Given the description of an element on the screen output the (x, y) to click on. 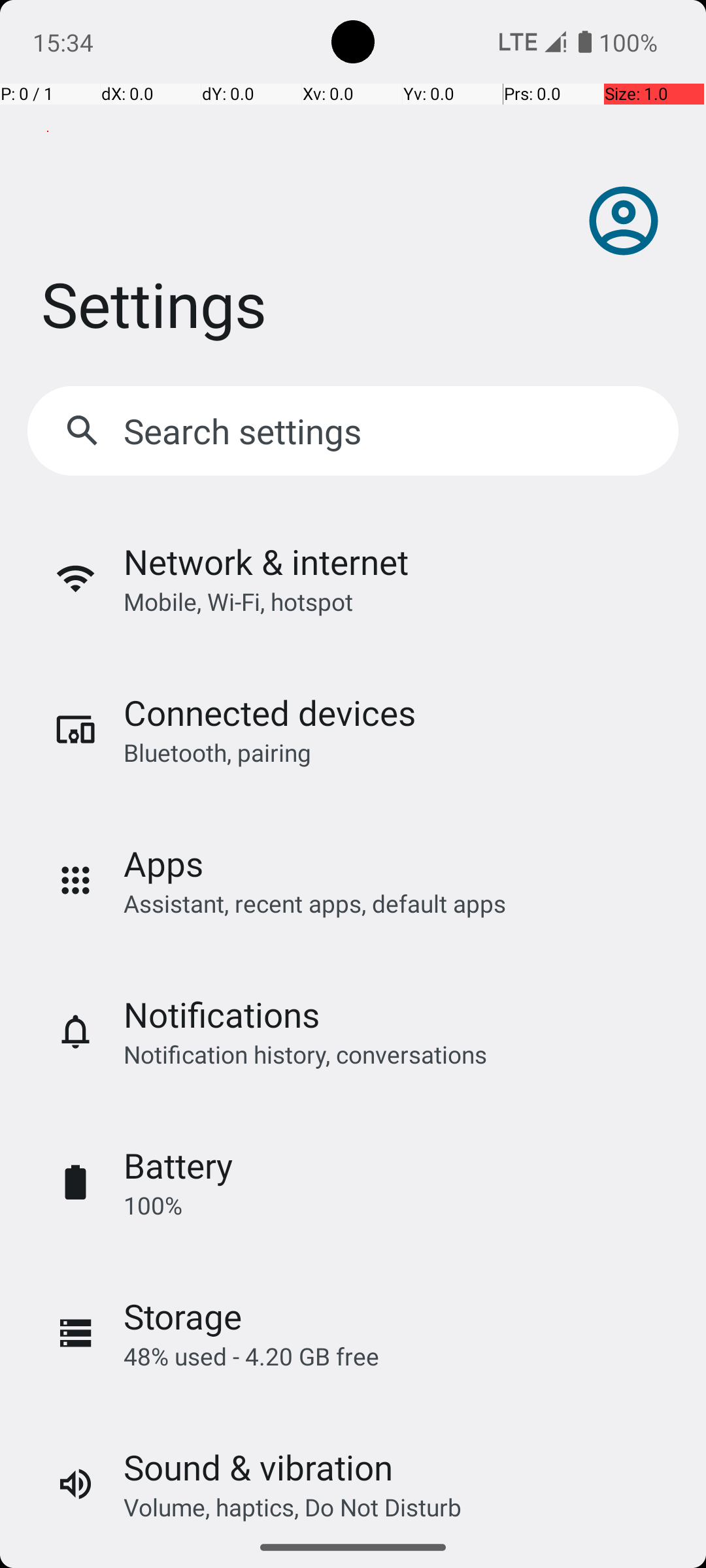
48% used - 4.20 GB free Element type: android.widget.TextView (251, 1355)
